Given the description of an element on the screen output the (x, y) to click on. 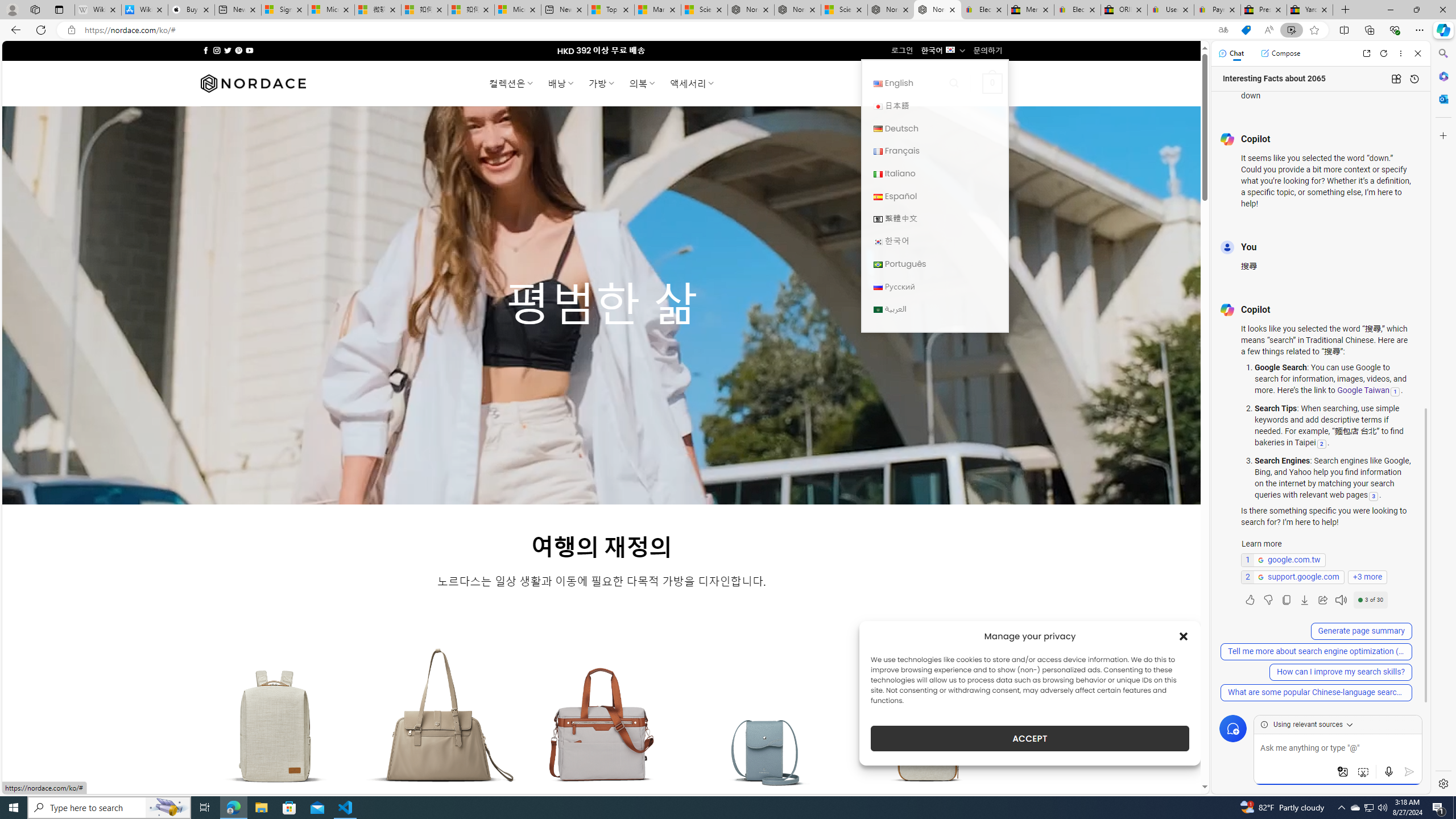
Italiano (877, 173)
